Given the description of an element on the screen output the (x, y) to click on. 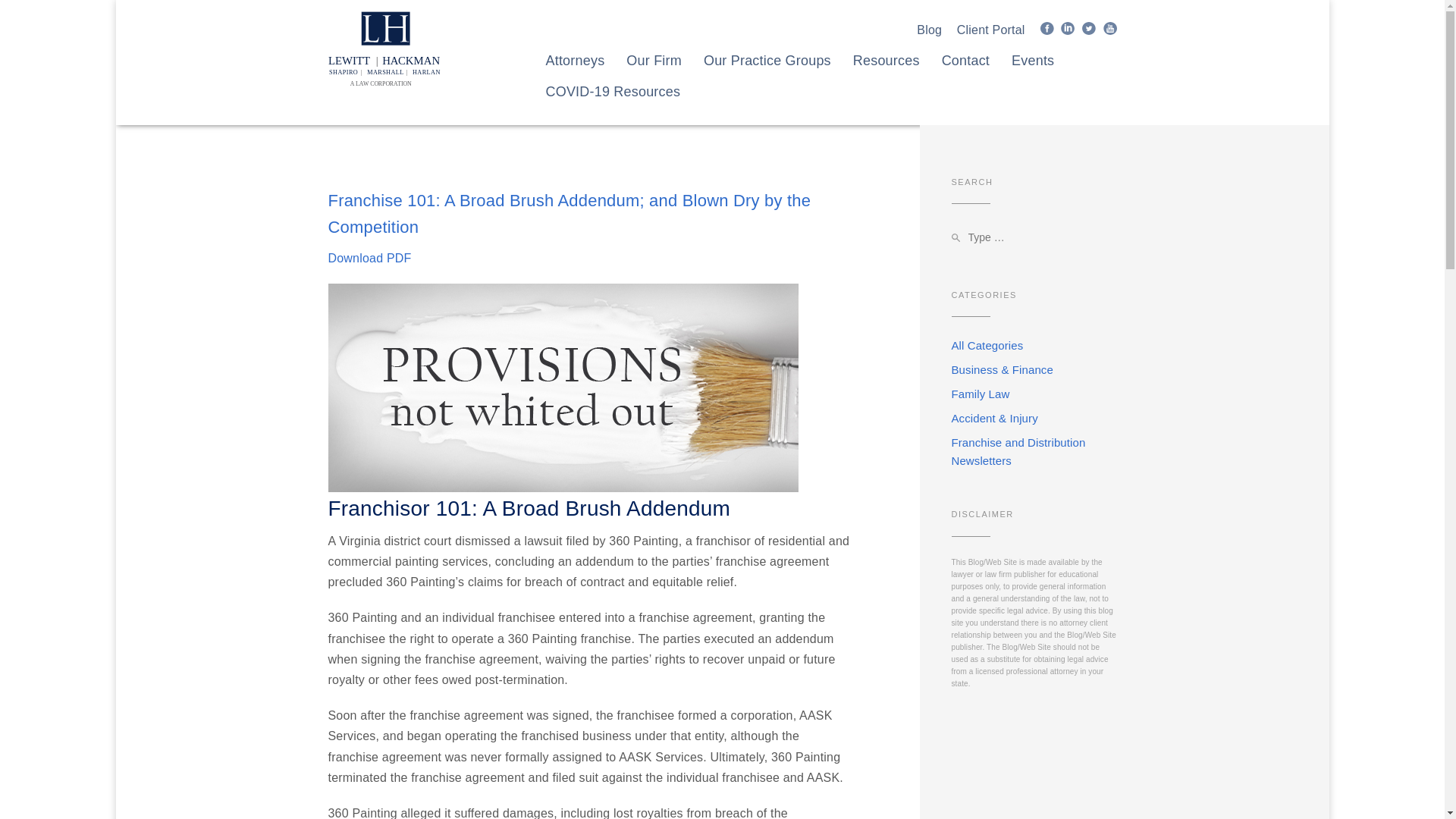
Contact (965, 70)
Client Portal (990, 29)
Our Firm (653, 70)
Download PDF (1088, 29)
All Categories (588, 258)
Events (986, 345)
Download PDF (1032, 70)
Our Practice Groups (368, 257)
Resources (1109, 29)
COVID-19 Resources (766, 70)
Attorneys (1047, 29)
